Given the description of an element on the screen output the (x, y) to click on. 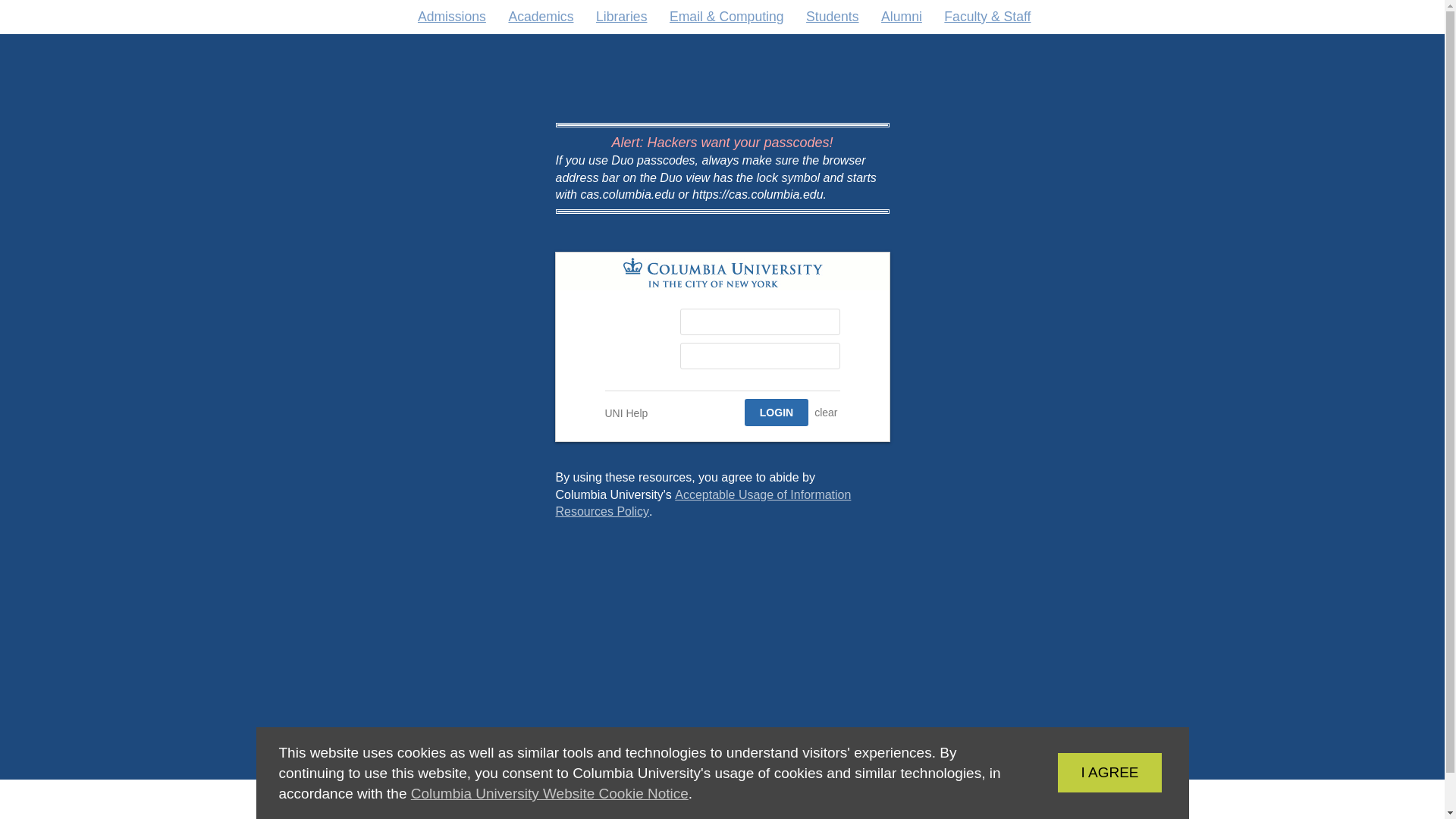
Acceptable Usage of Information Resources Policy (702, 502)
Academics (540, 16)
UNI Help (626, 413)
Students (832, 16)
Columbia University Website Cookie Notice (549, 793)
Libraries (1086, 772)
Admissions (620, 16)
CUIT Service Desk (451, 16)
LOGIN (770, 798)
